Given the description of an element on the screen output the (x, y) to click on. 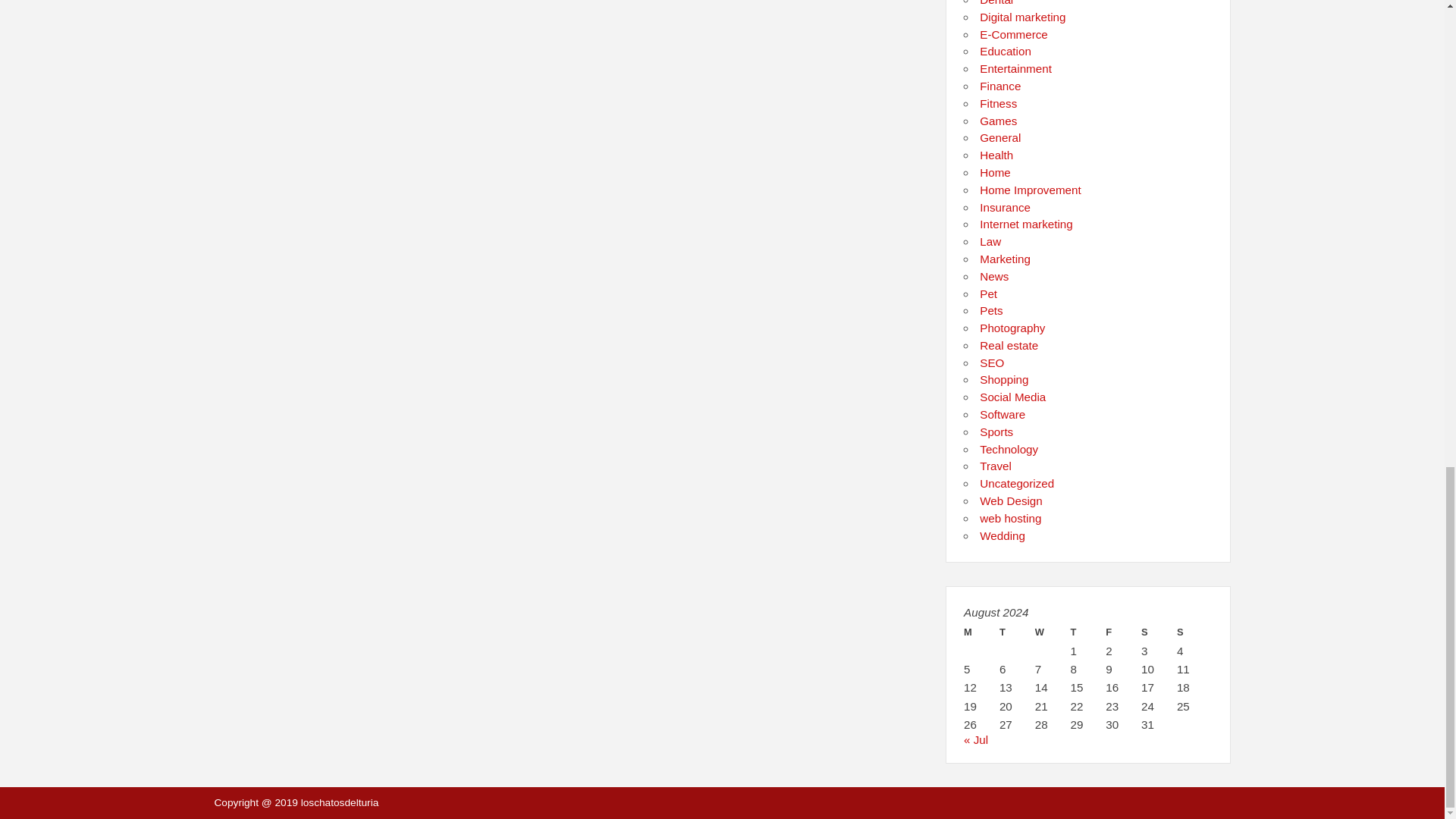
Health (996, 154)
Wednesday (1052, 632)
Marketing (1004, 258)
Education (1004, 51)
Games (997, 120)
Insurance (1004, 206)
Home (994, 172)
Saturday (1158, 632)
Tuesday (1016, 632)
Finance (999, 85)
Monday (980, 632)
Law (990, 241)
Digital marketing (1022, 16)
Sunday (1194, 632)
Thursday (1088, 632)
